Given the description of an element on the screen output the (x, y) to click on. 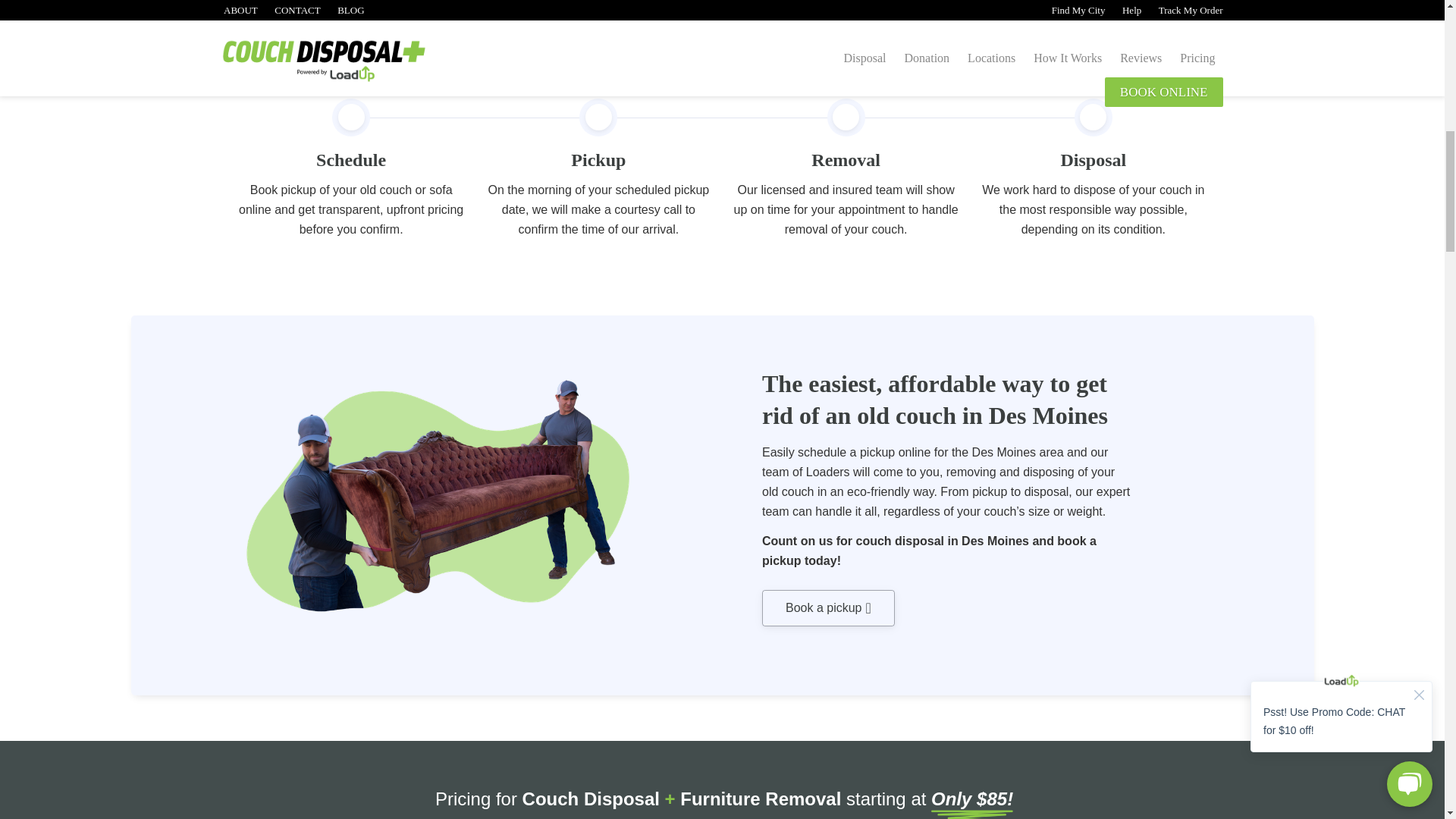
Book a pickup (828, 607)
Book couch disposal online (828, 607)
